Given the description of an element on the screen output the (x, y) to click on. 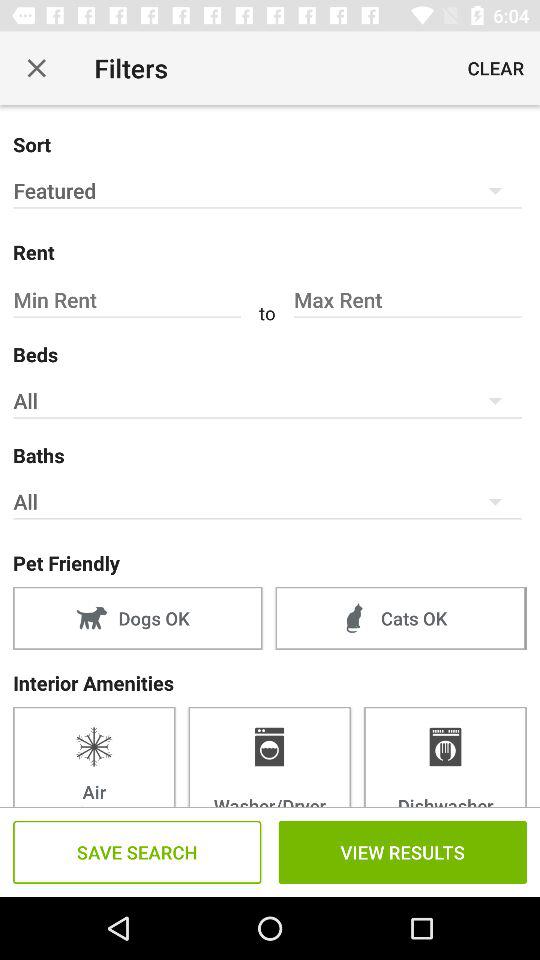
scroll until the cats ok icon (400, 617)
